Given the description of an element on the screen output the (x, y) to click on. 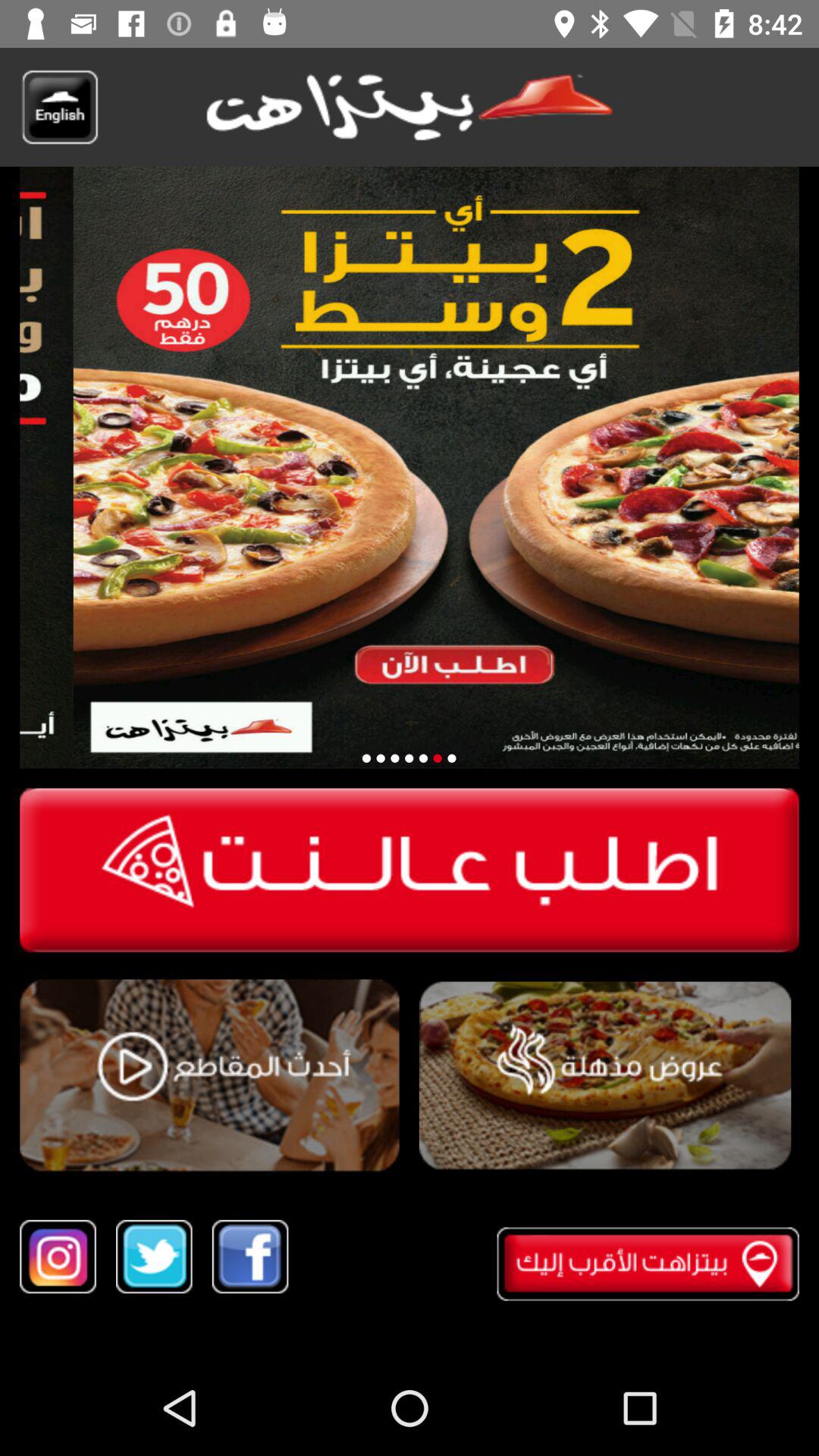
connect to twitter (154, 1256)
